Given the description of an element on the screen output the (x, y) to click on. 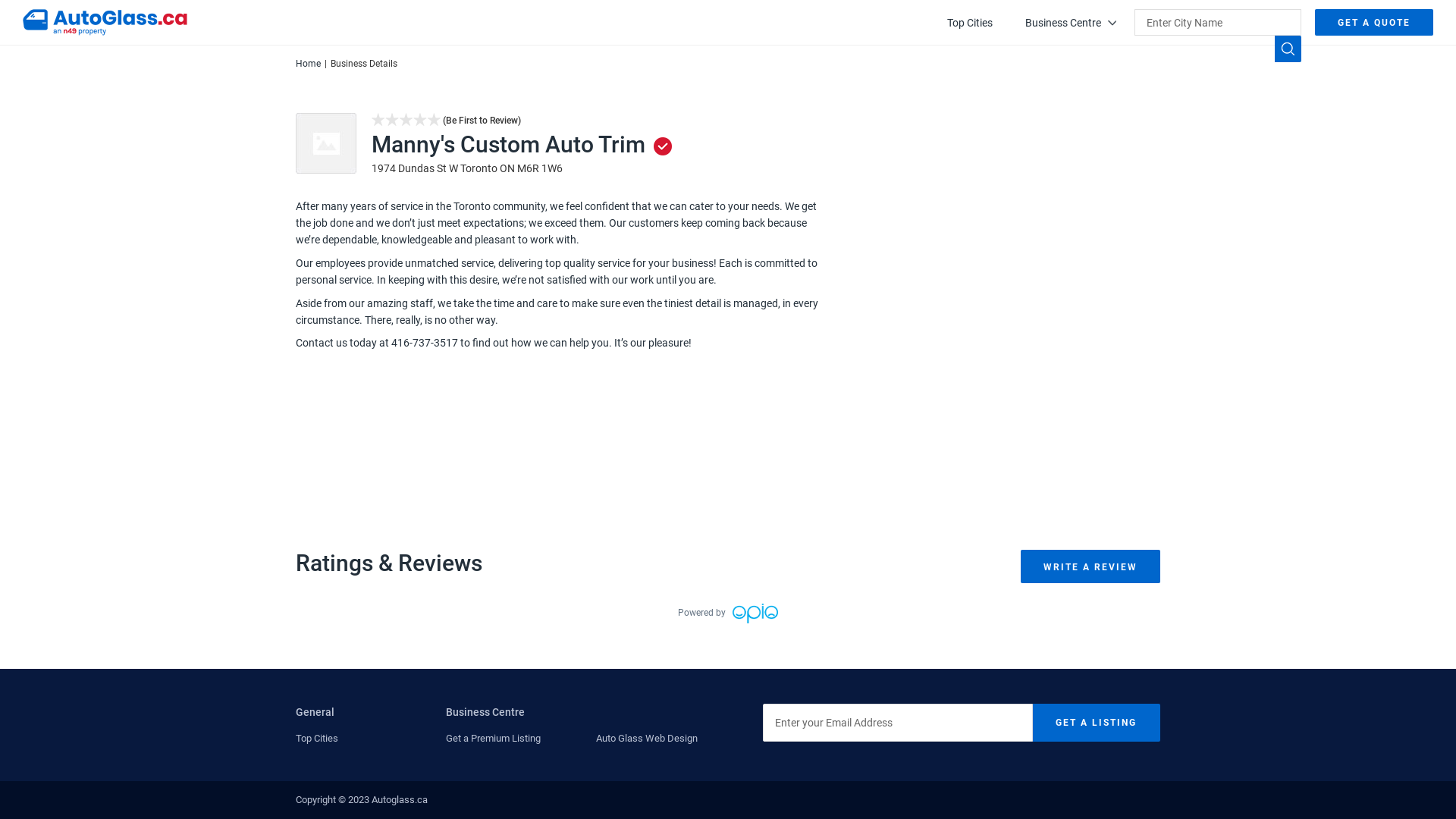
Business Centre Element type: text (1071, 22)
GET A QUOTE Element type: text (1373, 22)
Get a Premium Listing Element type: text (492, 737)
Top Cities Element type: text (969, 22)
WRITE A REVIEW Element type: text (1090, 566)
Home Element type: text (307, 63)
GET A LISTING Element type: text (1095, 722)
Top Cities Element type: text (316, 737)
Auto Glass Web Design Element type: text (646, 737)
